Given the description of an element on the screen output the (x, y) to click on. 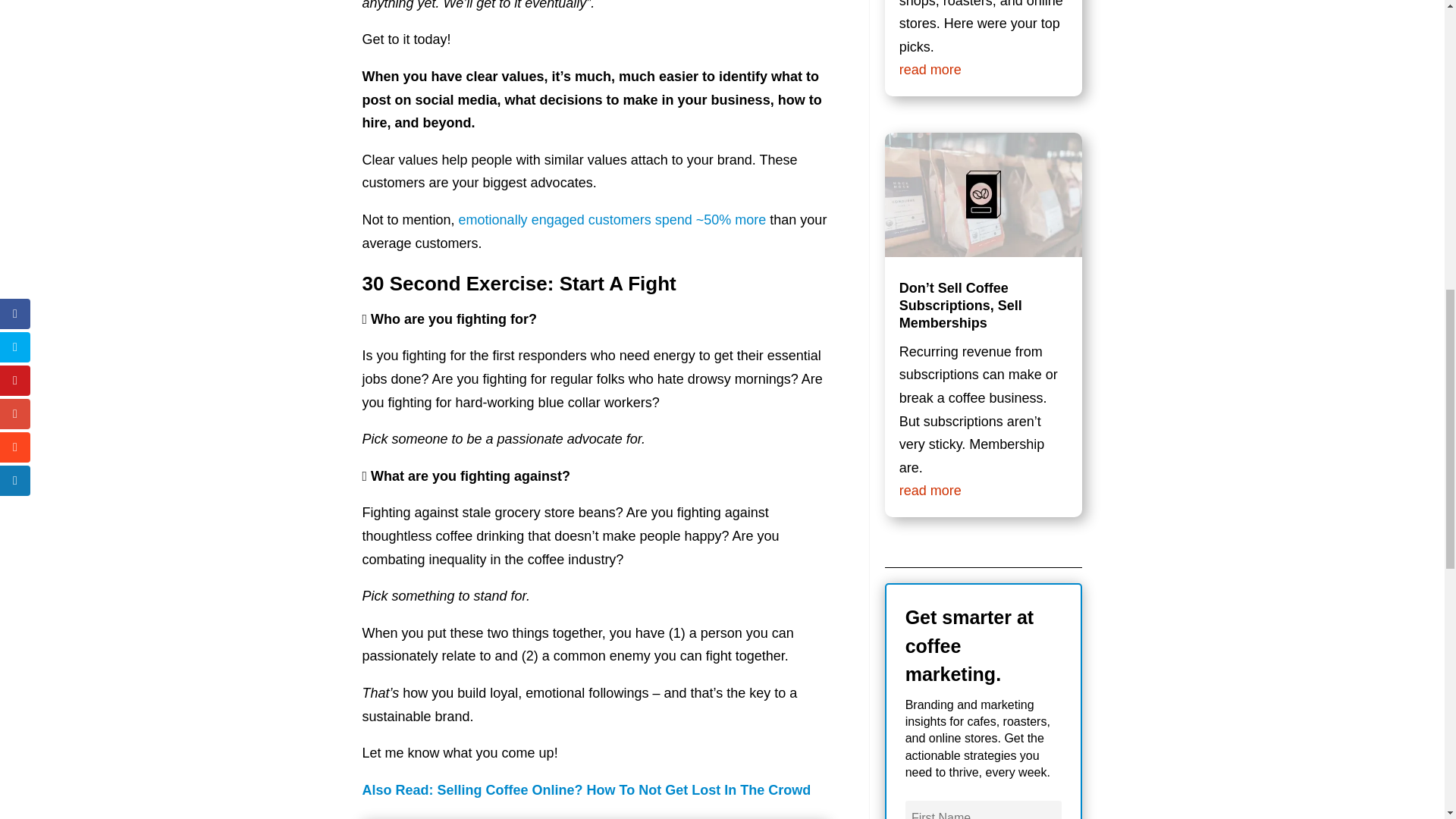
read more (929, 490)
read more (929, 69)
